Given the description of an element on the screen output the (x, y) to click on. 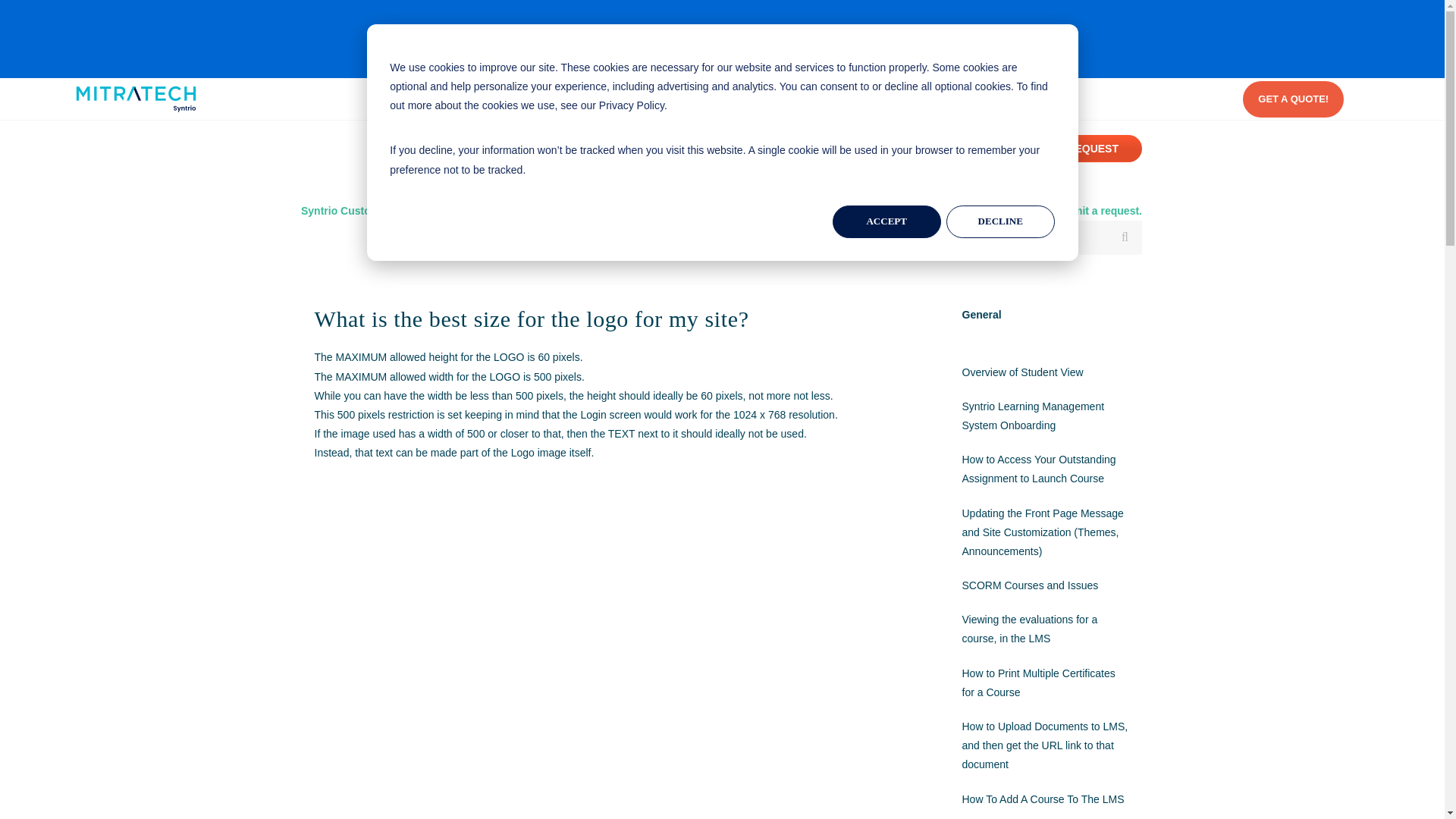
See How Mitratech Can Help! (891, 31)
English (994, 31)
TRAINING (804, 98)
HOTLINES (724, 98)
What is the best size for the logo for my site? (613, 318)
Search for: (936, 237)
